Given the description of an element on the screen output the (x, y) to click on. 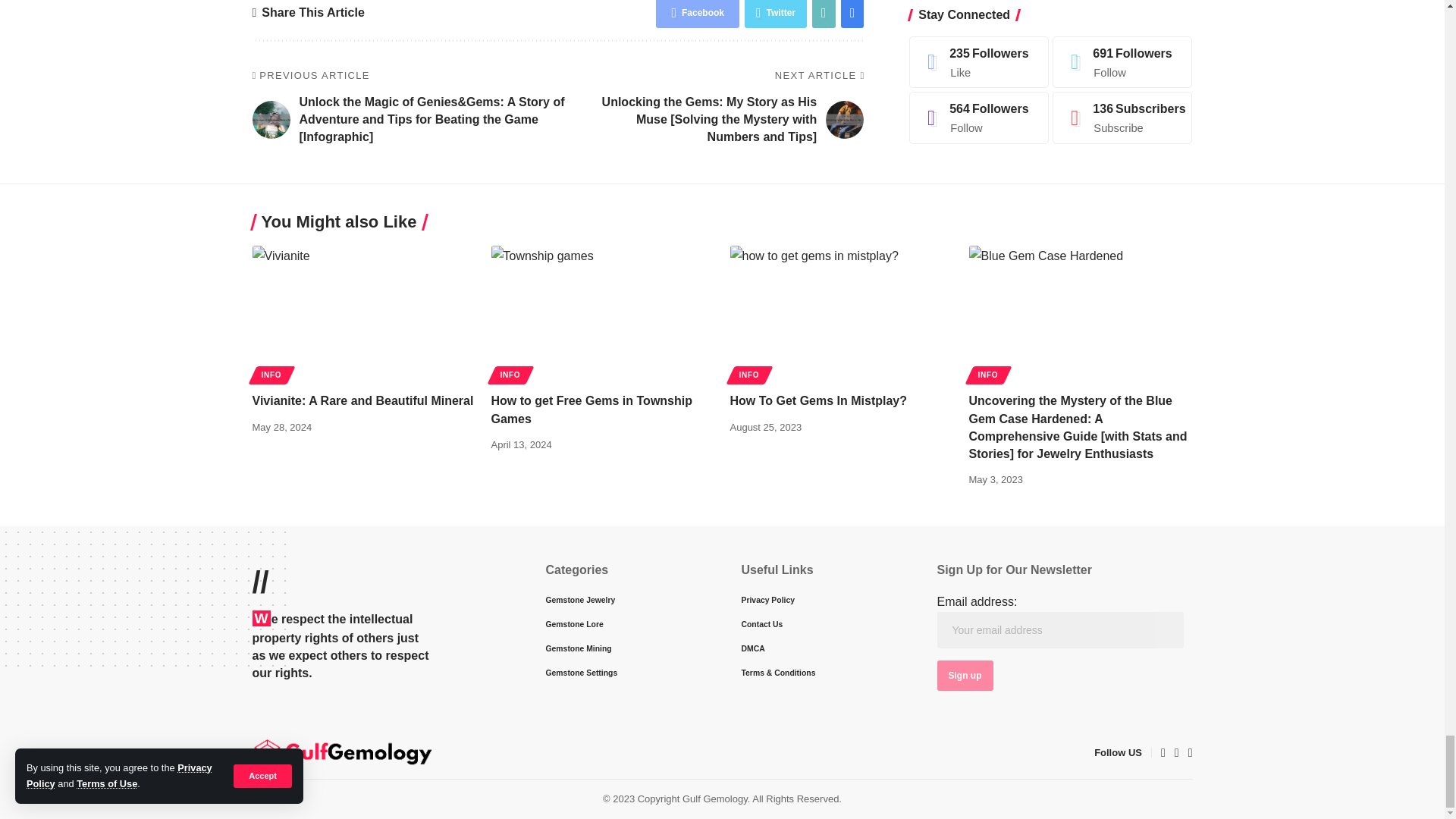
Vivianite: A Rare and Beautiful Mineral (363, 312)
Sign up (964, 675)
